Given the description of an element on the screen output the (x, y) to click on. 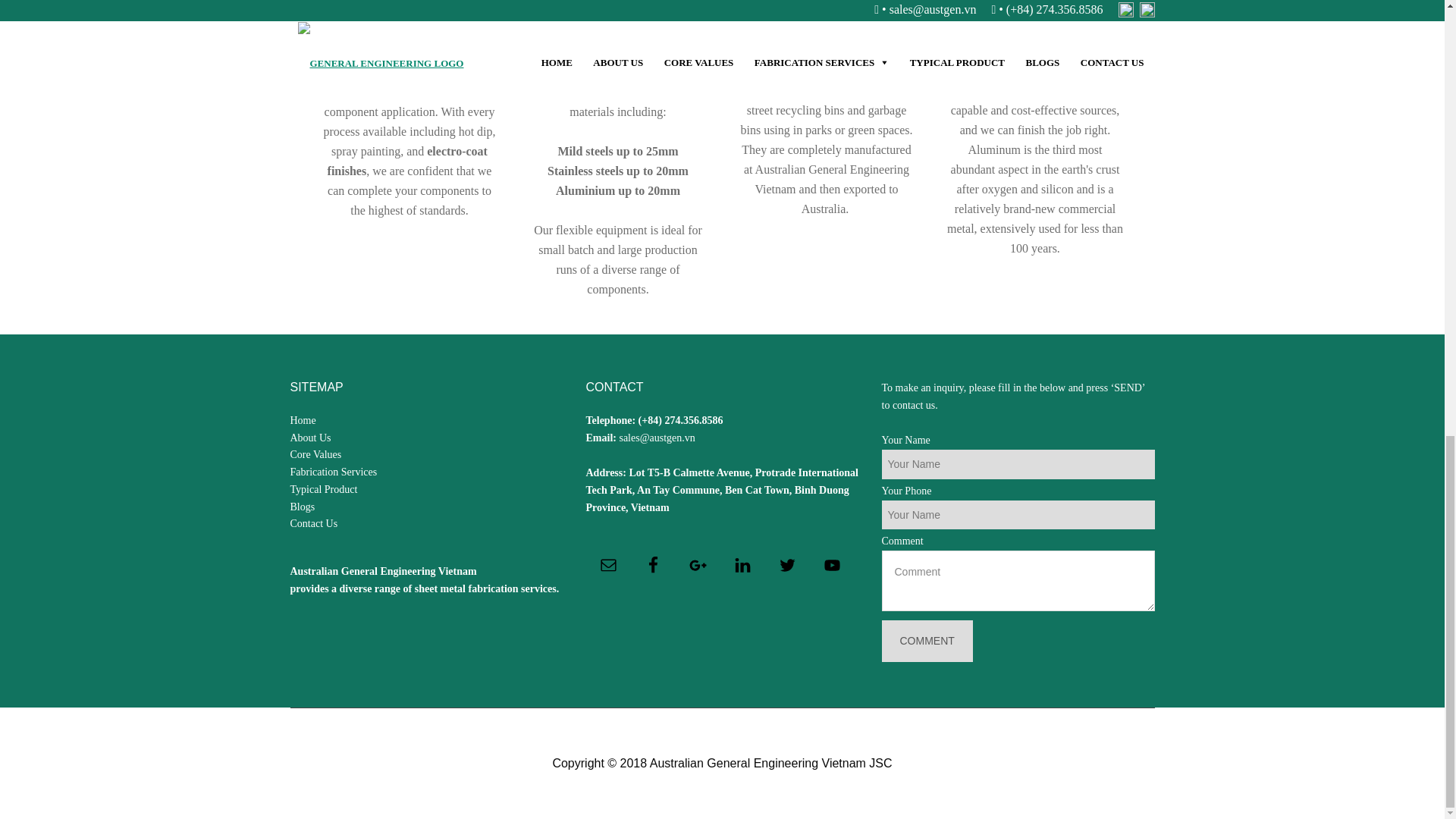
ALUMINUM SHEET METAL FABRICATION (1035, 19)
Home (302, 419)
